Given the description of an element on the screen output the (x, y) to click on. 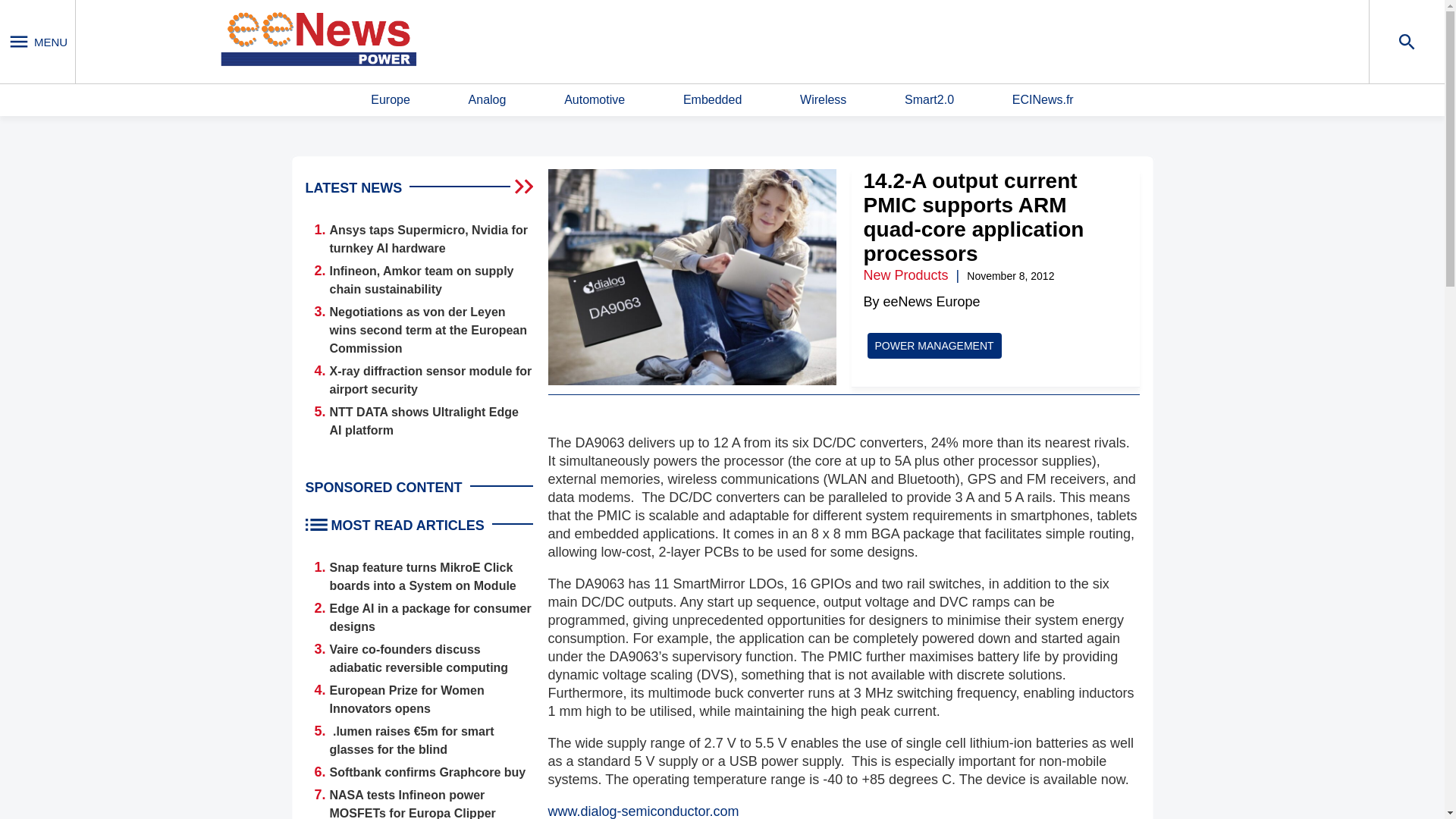
Automotive (594, 99)
Embedded (711, 99)
ECINews.fr (1042, 99)
Wireless (822, 99)
Smart2.0 (928, 99)
Europe (390, 99)
www.dialog-semiconductor.com (642, 811)
Analog (487, 99)
